Given the description of an element on the screen output the (x, y) to click on. 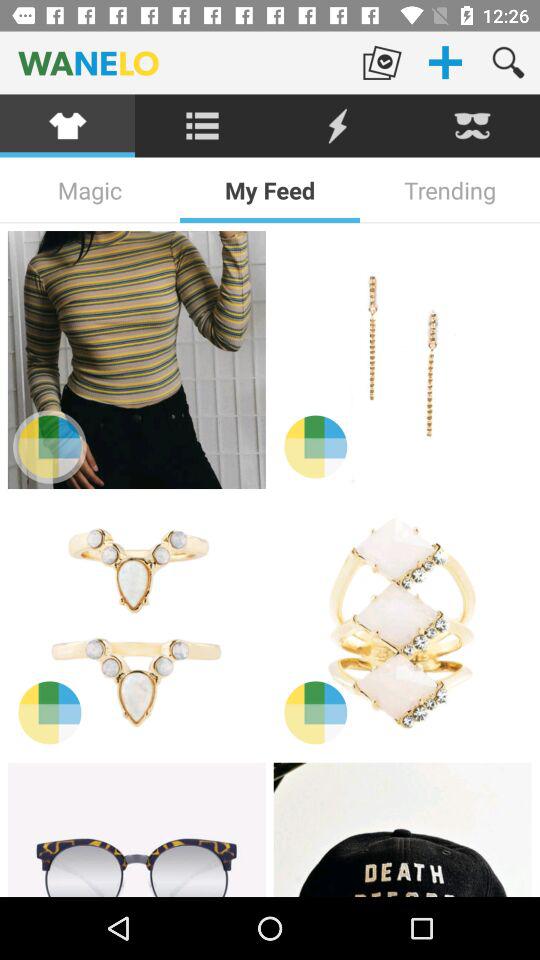
see this hat (402, 829)
